Given the description of an element on the screen output the (x, y) to click on. 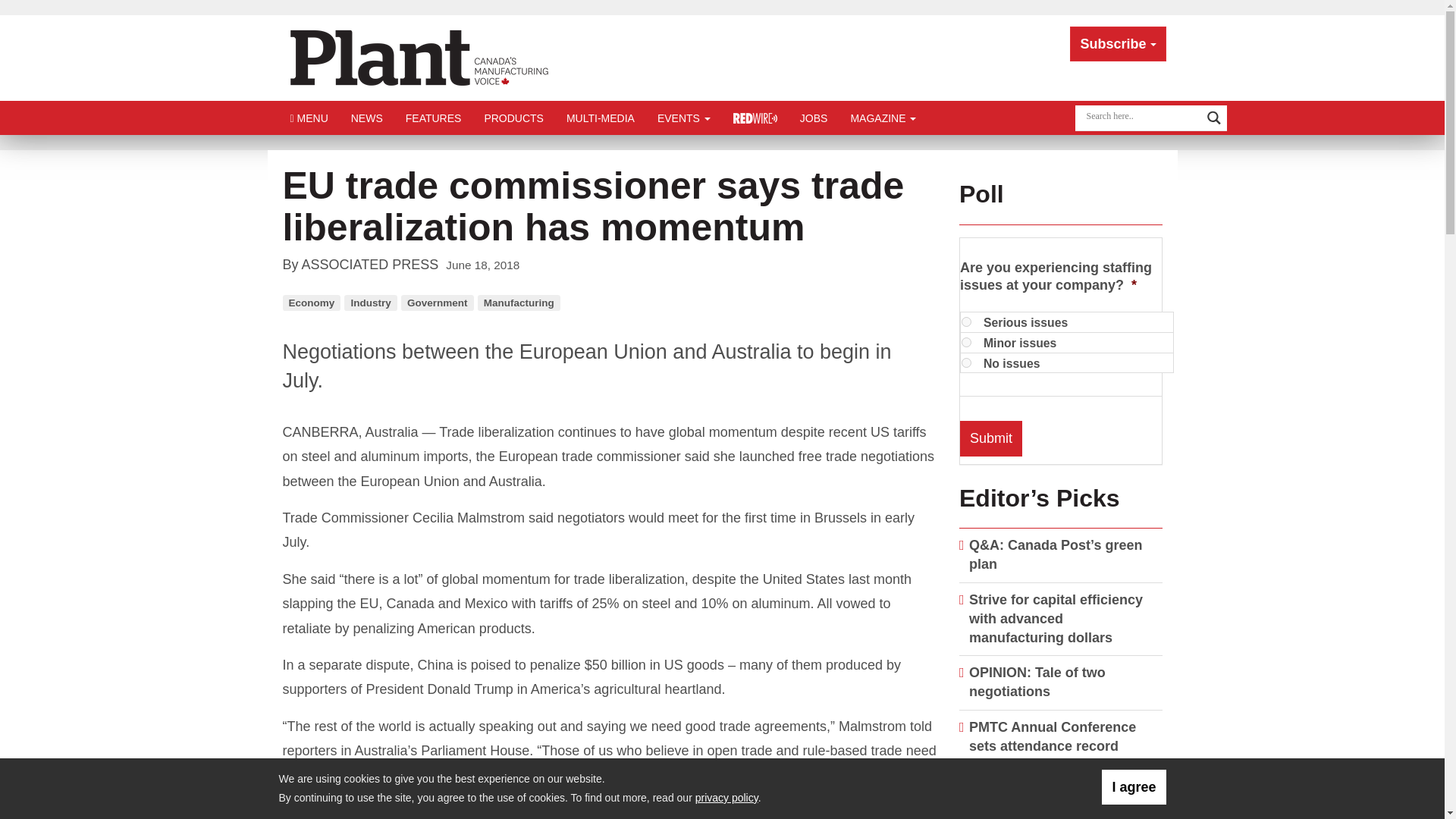
EVENTS (684, 117)
Submit (990, 437)
Click to show site navigation (309, 117)
Minor issues (965, 342)
No issues (965, 362)
FEATURES (433, 117)
MENU (309, 117)
Plant (419, 56)
NEWS (366, 117)
Serious issues (965, 321)
